Given the description of an element on the screen output the (x, y) to click on. 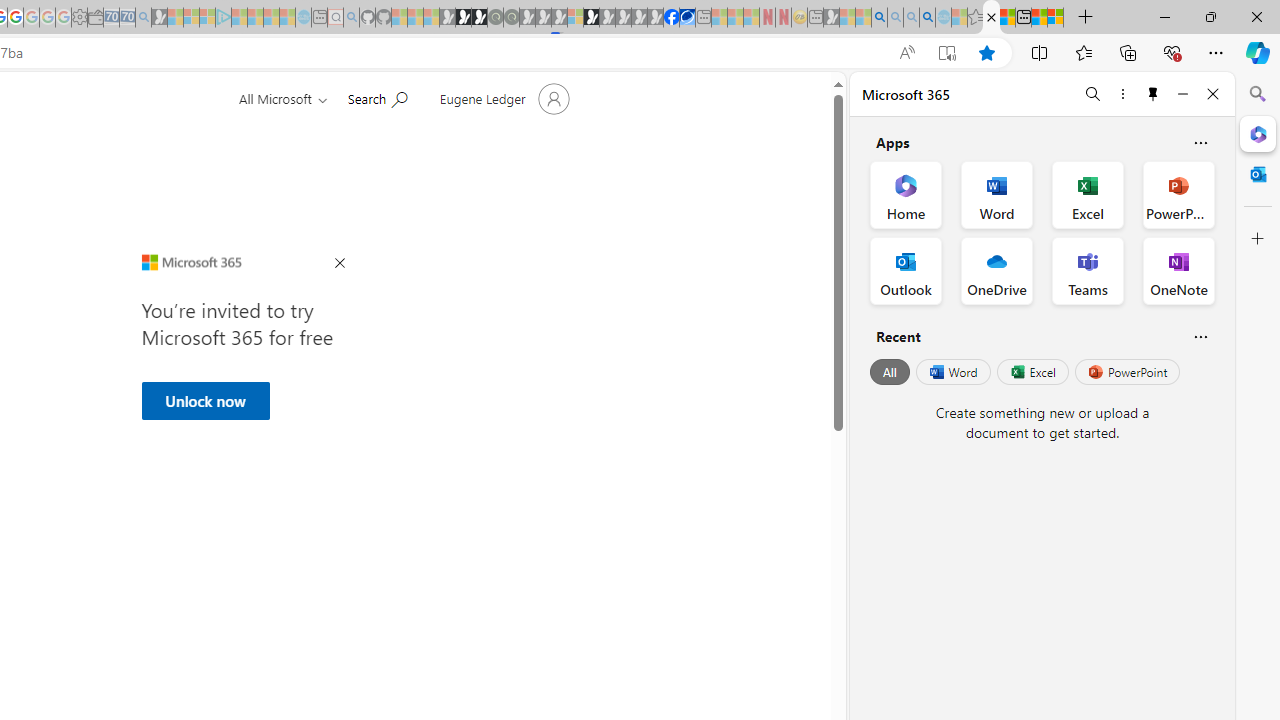
github - Search - Sleeping (351, 17)
PowerPoint Office App (1178, 194)
AirNow.gov (687, 17)
Future Focus Report 2024 - Sleeping (511, 17)
Close Customize pane (1258, 239)
Bing Real Estate - Home sales and rental listings - Sleeping (143, 17)
Google Chrome Internet Browser Download - Search Images (927, 17)
